Given the description of an element on the screen output the (x, y) to click on. 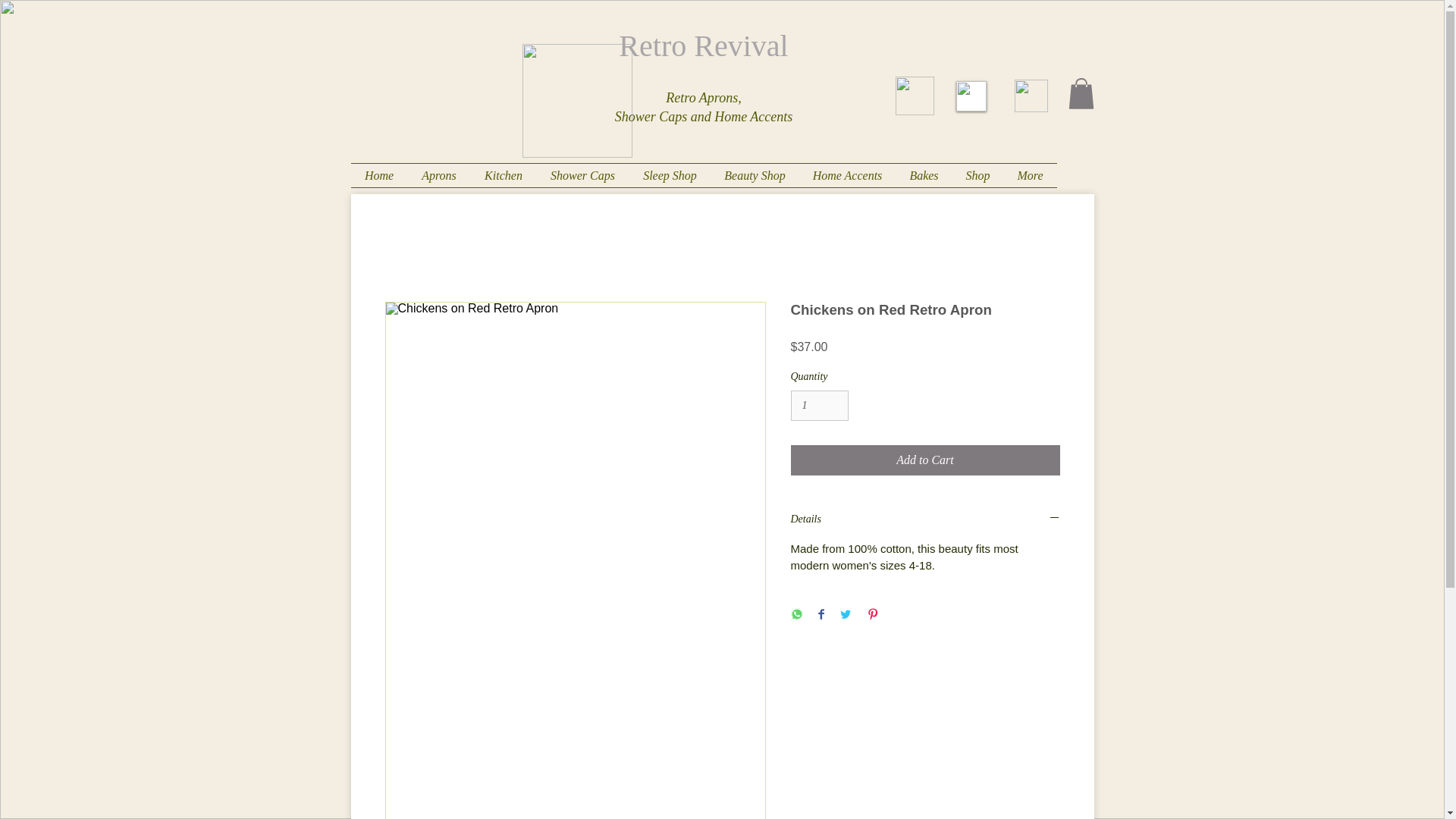
Home (378, 175)
Sleep Shop (669, 175)
Shop (978, 175)
Beauty Shop (755, 175)
Aprons (438, 175)
Add to Cart (924, 460)
Bakes (924, 175)
1 (818, 405)
Details (924, 519)
Shower Caps (582, 175)
